Given the description of an element on the screen output the (x, y) to click on. 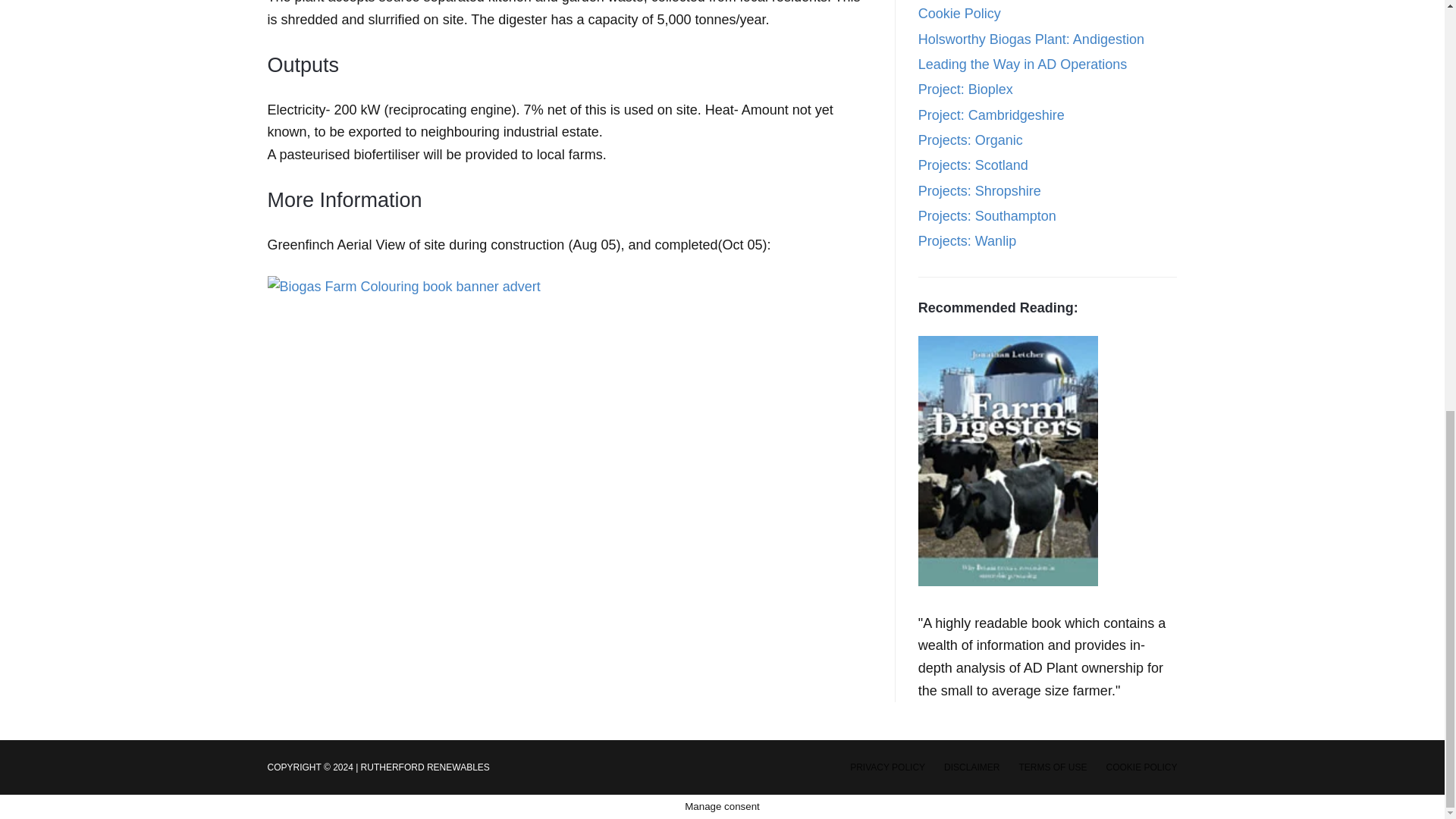
Project: Bioplex (965, 89)
Projects: Southampton (987, 215)
PRIVACY POLICY (887, 767)
Cookie Policy (959, 13)
TERMS OF USE (1051, 767)
Project: Cambridgeshire (991, 114)
Projects: Scotland (972, 165)
DISCLAIMER (970, 767)
Projects: Wanlip (967, 240)
